Given the description of an element on the screen output the (x, y) to click on. 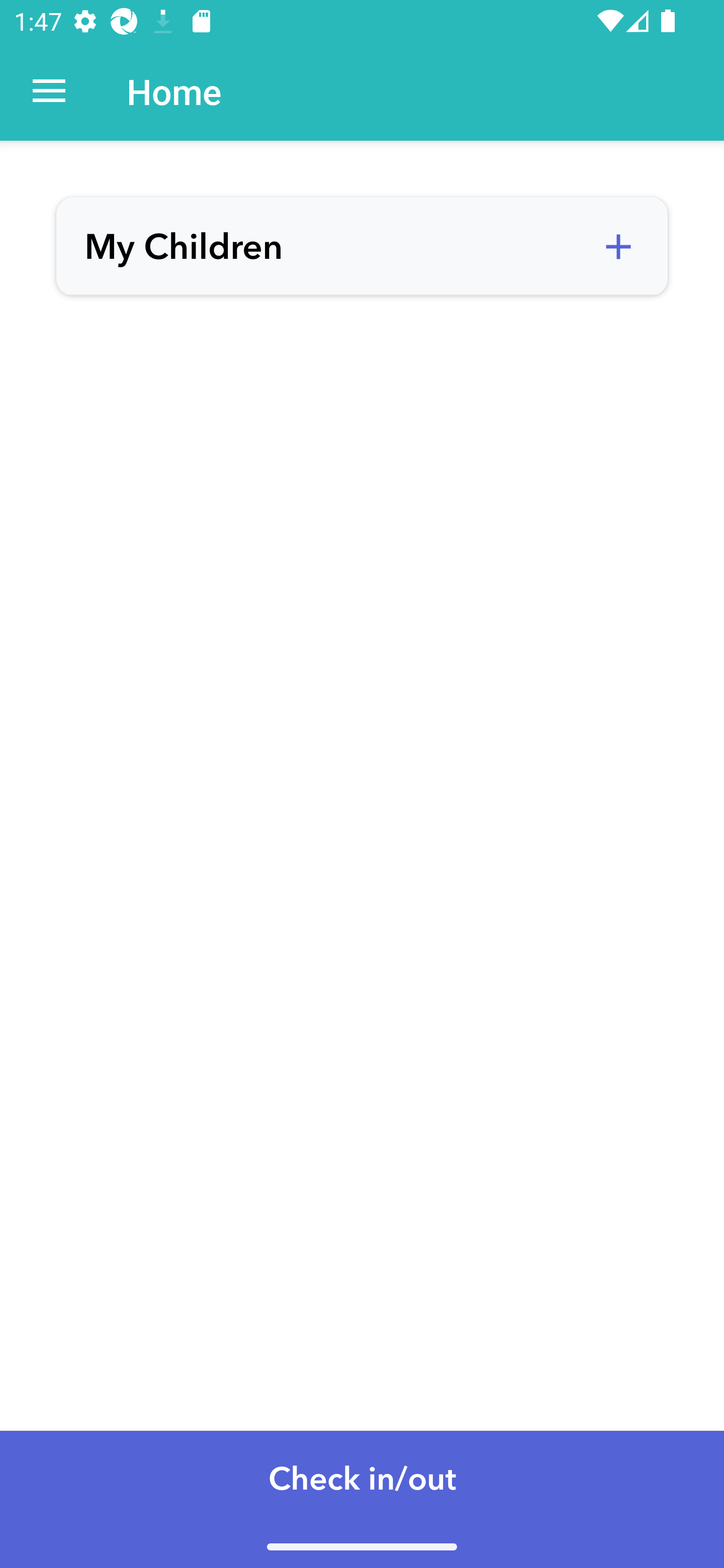
Open navigation drawer (49, 91)
Add a Child (618, 246)
Check in/out (362, 1499)
